Given the description of an element on the screen output the (x, y) to click on. 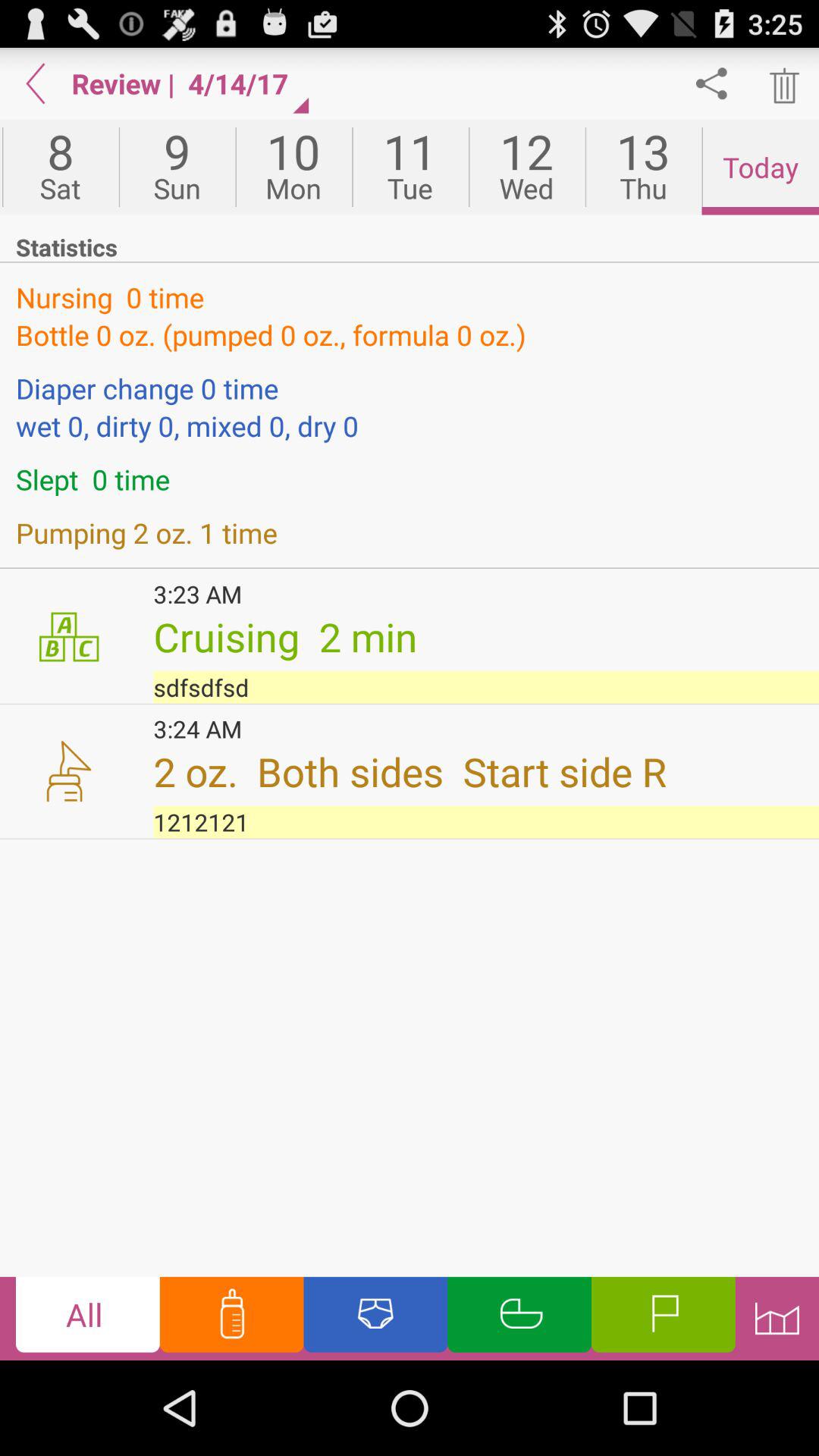
go to sharing (711, 83)
